Given the description of an element on the screen output the (x, y) to click on. 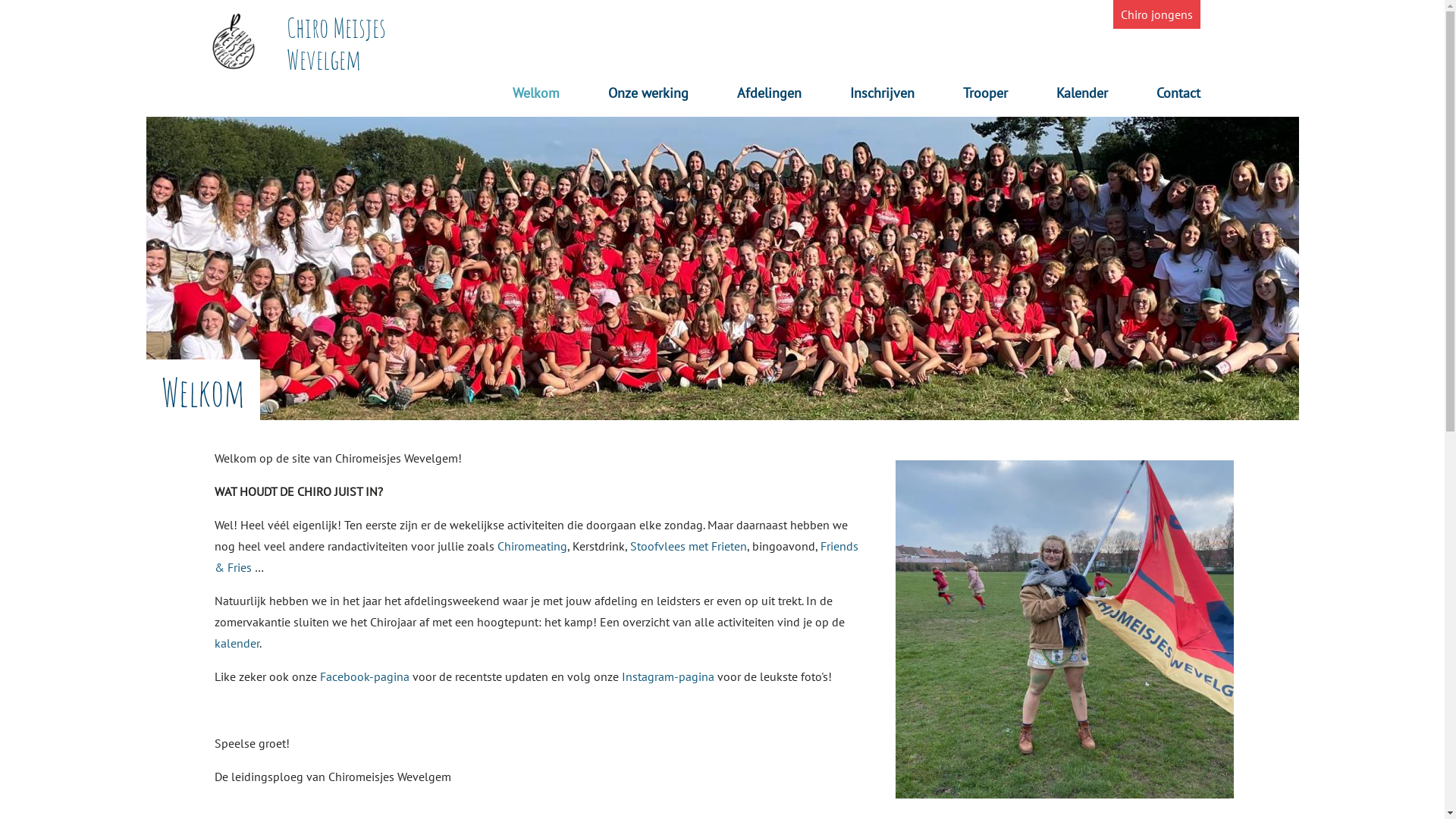
Inschrijven Element type: text (881, 96)
kalender Element type: text (235, 642)
Kalender Element type: text (1081, 96)
Facebook-pagina Element type: text (364, 676)
Instagram-pagina Element type: text (667, 676)
Afdelingen Element type: text (769, 96)
Stoofvlees met Frieten Element type: text (687, 545)
Contact Element type: text (1177, 96)
Onze werking Element type: text (648, 96)
Chiro Meisjes
Wevelgem Element type: text (335, 42)
Trooper Element type: text (985, 96)
Chiromeating Element type: text (532, 545)
Skip to main content Element type: text (0, 0)
Welkom Element type: text (535, 96)
Friends & Fries Element type: text (535, 556)
Chiro jongens Element type: text (1156, 13)
